Given the description of an element on the screen output the (x, y) to click on. 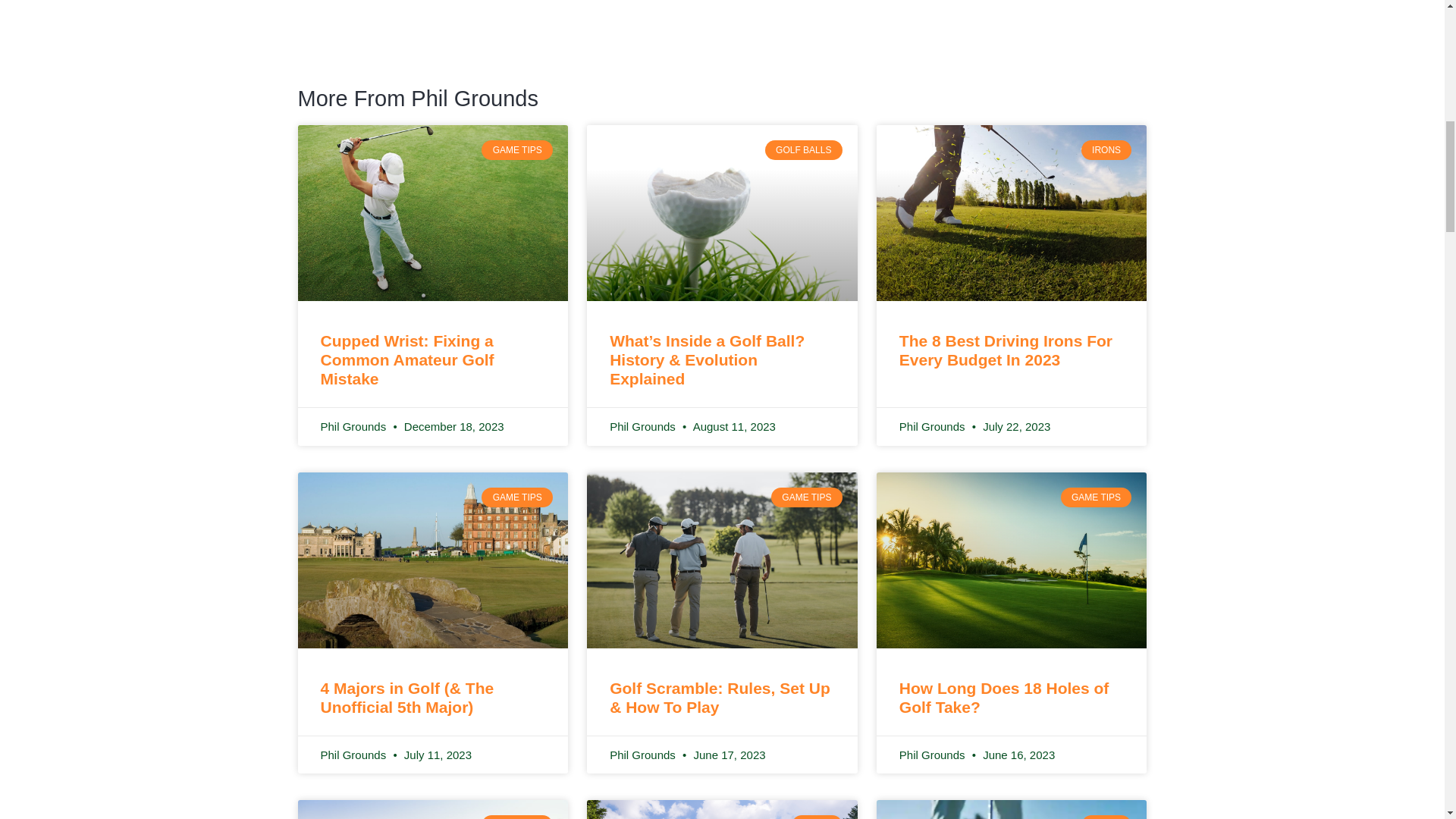
Cupped Wrist: Fixing a Common Amateur Golf Mistake (406, 359)
